Given the description of an element on the screen output the (x, y) to click on. 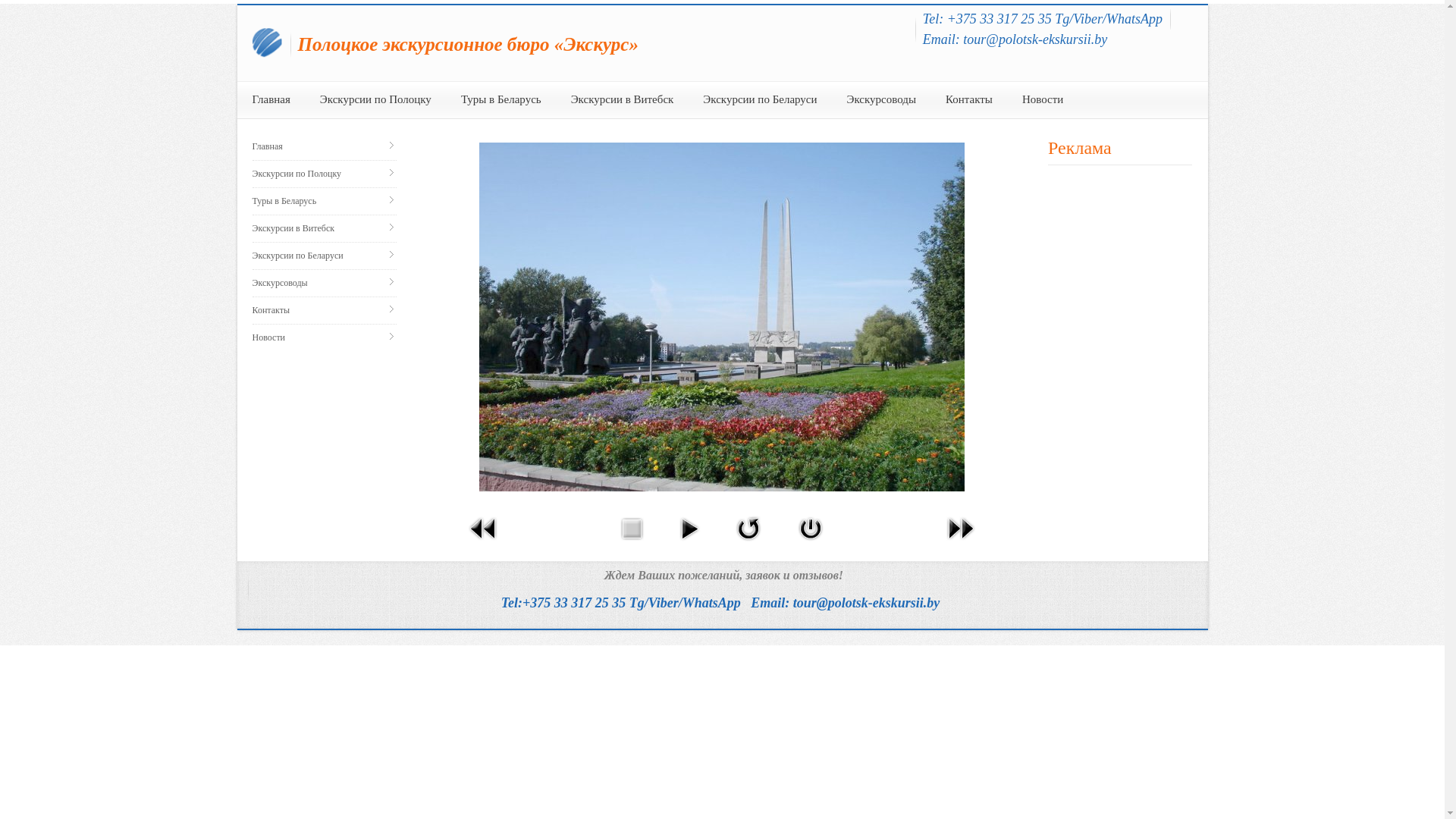
Tel: +375 33 317 25 35 Tg/Viber/WhatsApp Element type: text (1042, 18)
Close Window Element type: hover (810, 542)
Email: tour@polotsk-ekskursii.by Element type: text (844, 602)
Previous Image Element type: hover (483, 542)
Next Image Element type: hover (960, 542)
Refresh Element type: hover (748, 542)
Start Slideshow Element type: hover (689, 542)
Tel:+375 33 317 25 35 Tg/Viber/WhatsApp Element type: text (620, 602)
Email: tour@polotsk-ekskursii.by Element type: text (1014, 39)
